Given the description of an element on the screen output the (x, y) to click on. 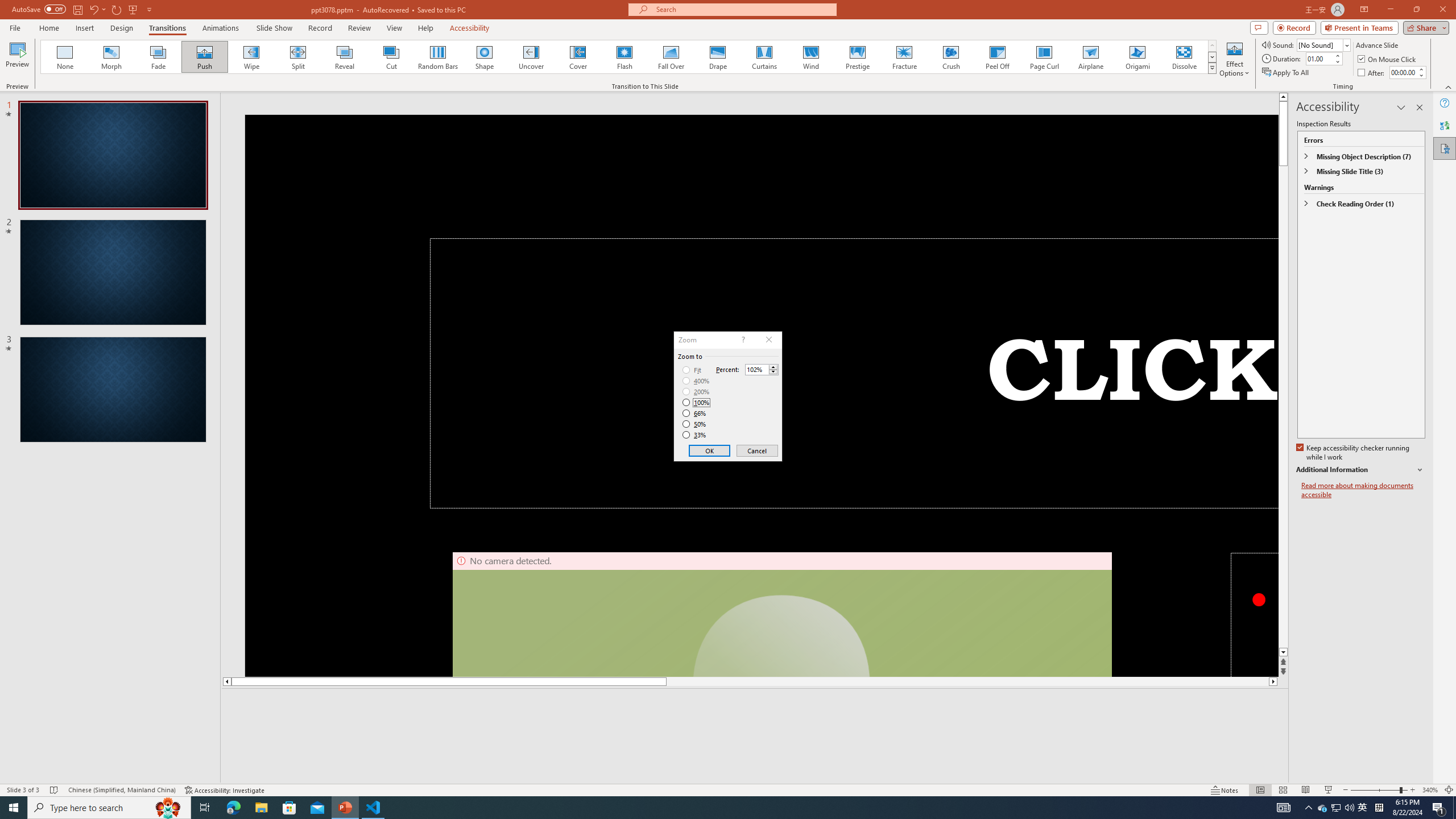
On Mouse Click (1387, 58)
After (1335, 807)
Type here to search (1372, 72)
Peel Off (108, 807)
Show desktop (997, 56)
Action Center, 1 new notification (1454, 807)
Preview (1439, 807)
400% (17, 58)
Cancel (696, 380)
Drape (756, 450)
